Given the description of an element on the screen output the (x, y) to click on. 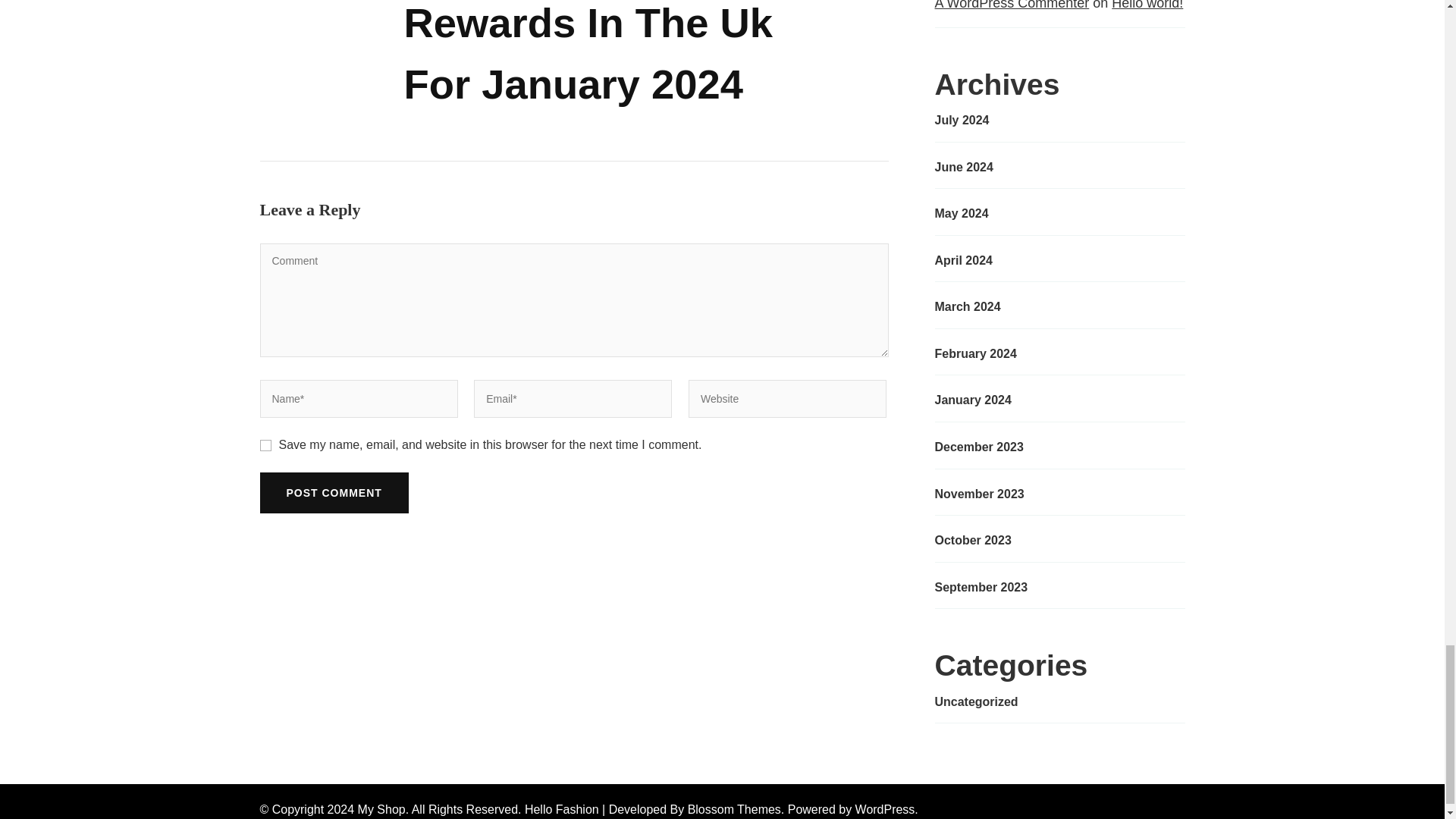
Post Comment (333, 492)
Post Comment (333, 492)
